Given the description of an element on the screen output the (x, y) to click on. 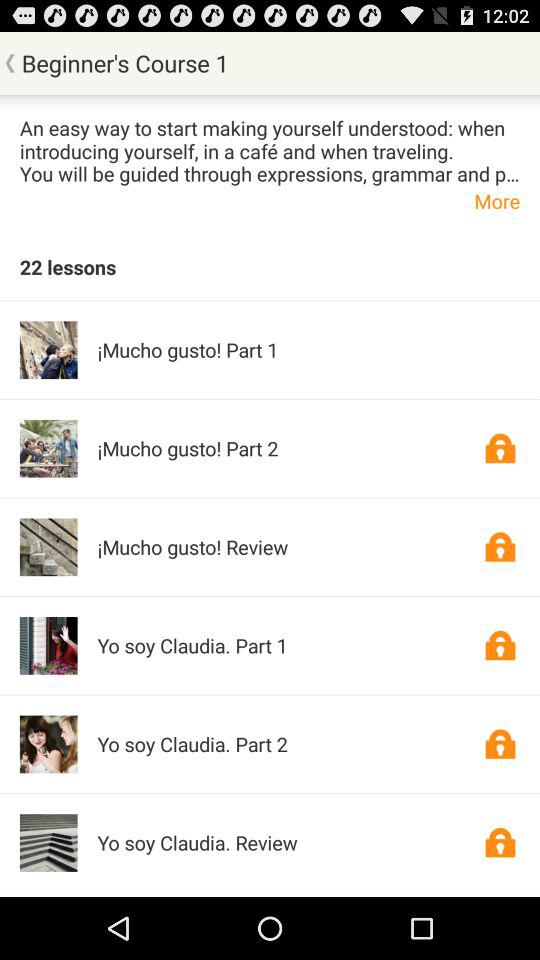
swipe until an easy way (269, 150)
